Given the description of an element on the screen output the (x, y) to click on. 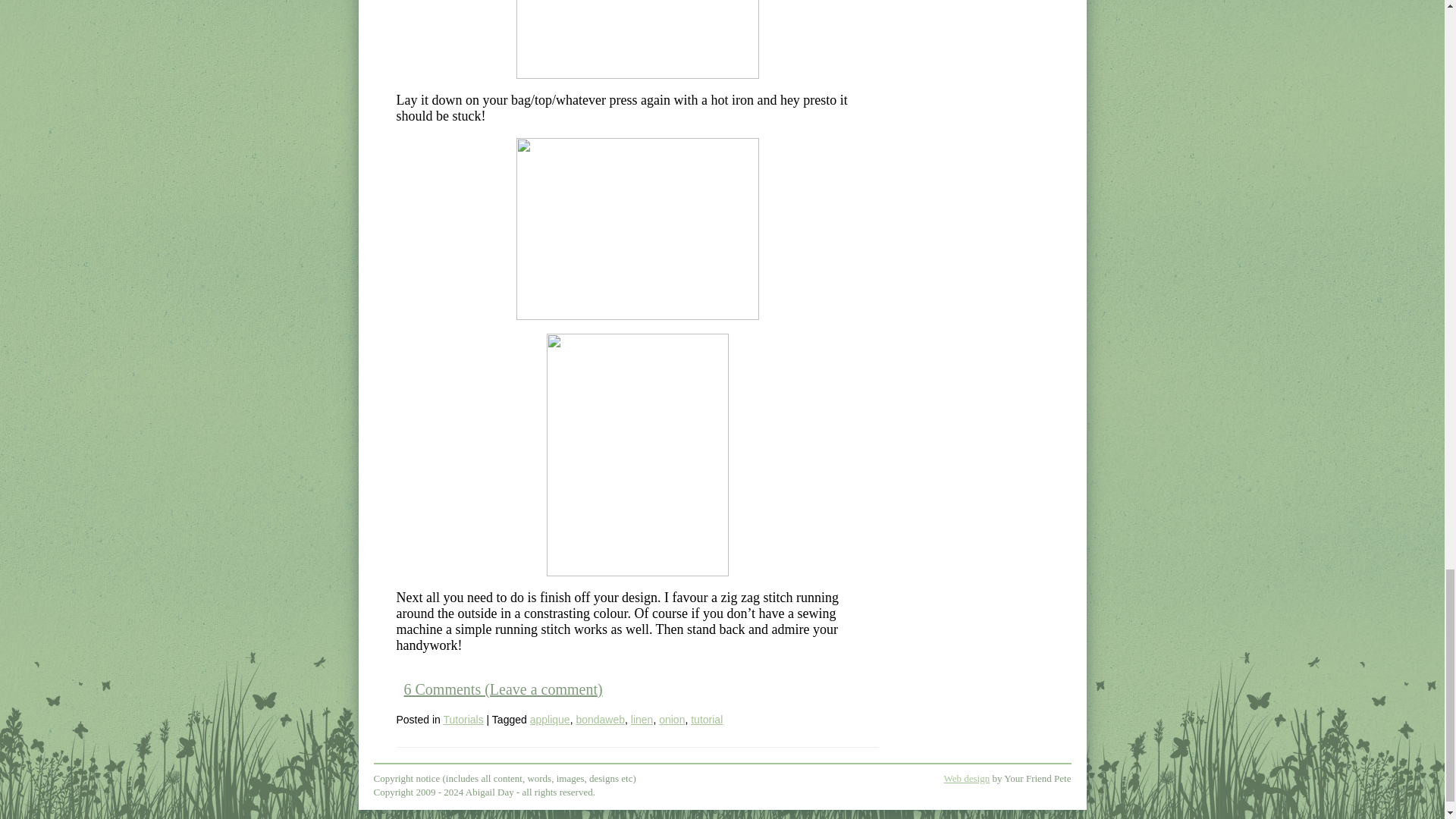
tutorial (706, 719)
bondaweb (599, 719)
linen (641, 719)
Tutorials (463, 719)
onion (671, 719)
applique (549, 719)
